Given the description of an element on the screen output the (x, y) to click on. 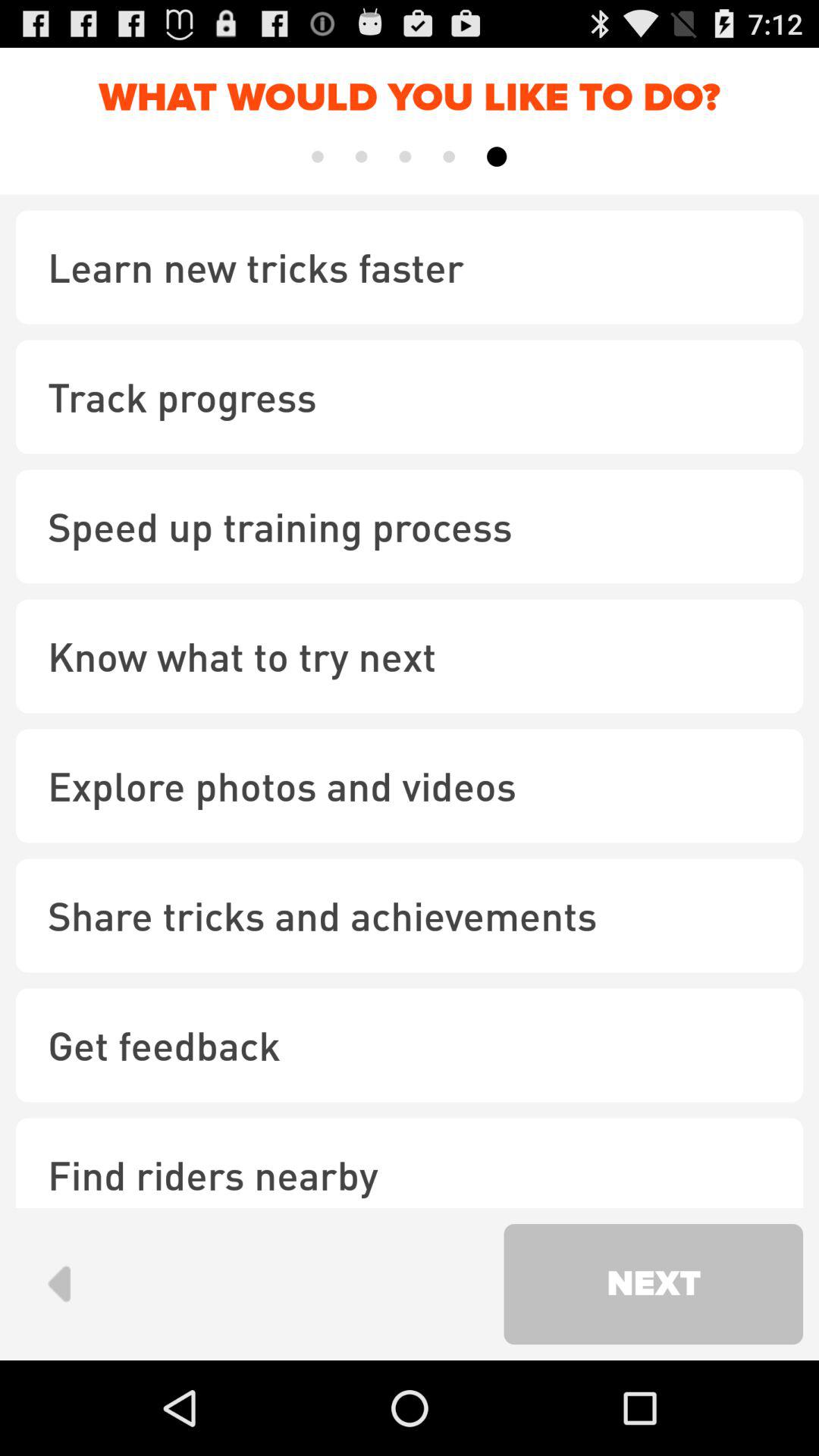
turn off the icon next to the next (58, 1283)
